Given the description of an element on the screen output the (x, y) to click on. 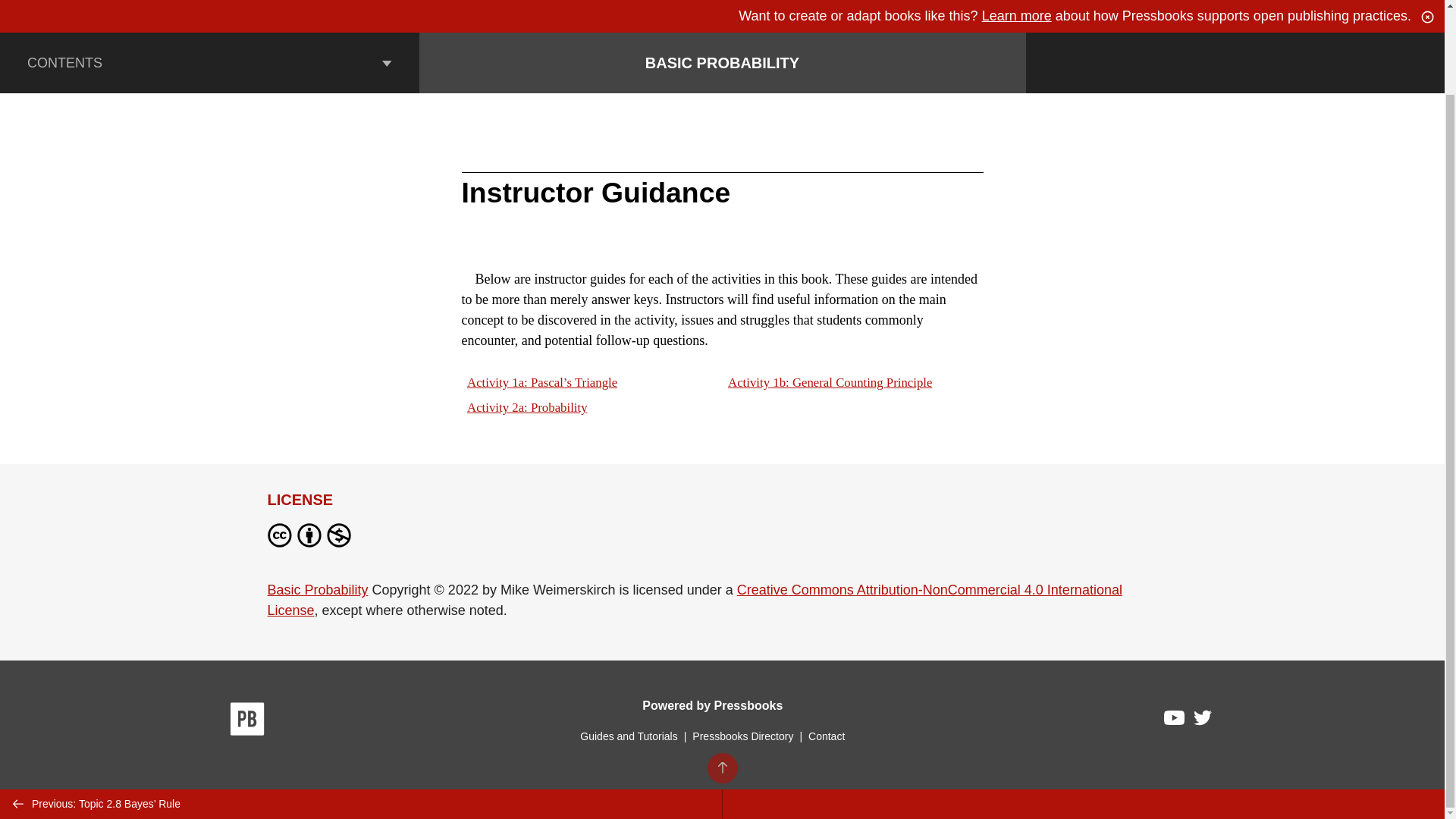
Guides and Tutorials (627, 736)
Pressbooks Directory (742, 736)
Pressbooks on YouTube (1174, 721)
BACK TO TOP (721, 671)
Basic Probability (317, 589)
Learn more (1016, 15)
Powered by Pressbooks (712, 705)
Activity 2a: Probability (526, 407)
Activity 1b: General Counting Principle (829, 382)
